Given the description of an element on the screen output the (x, y) to click on. 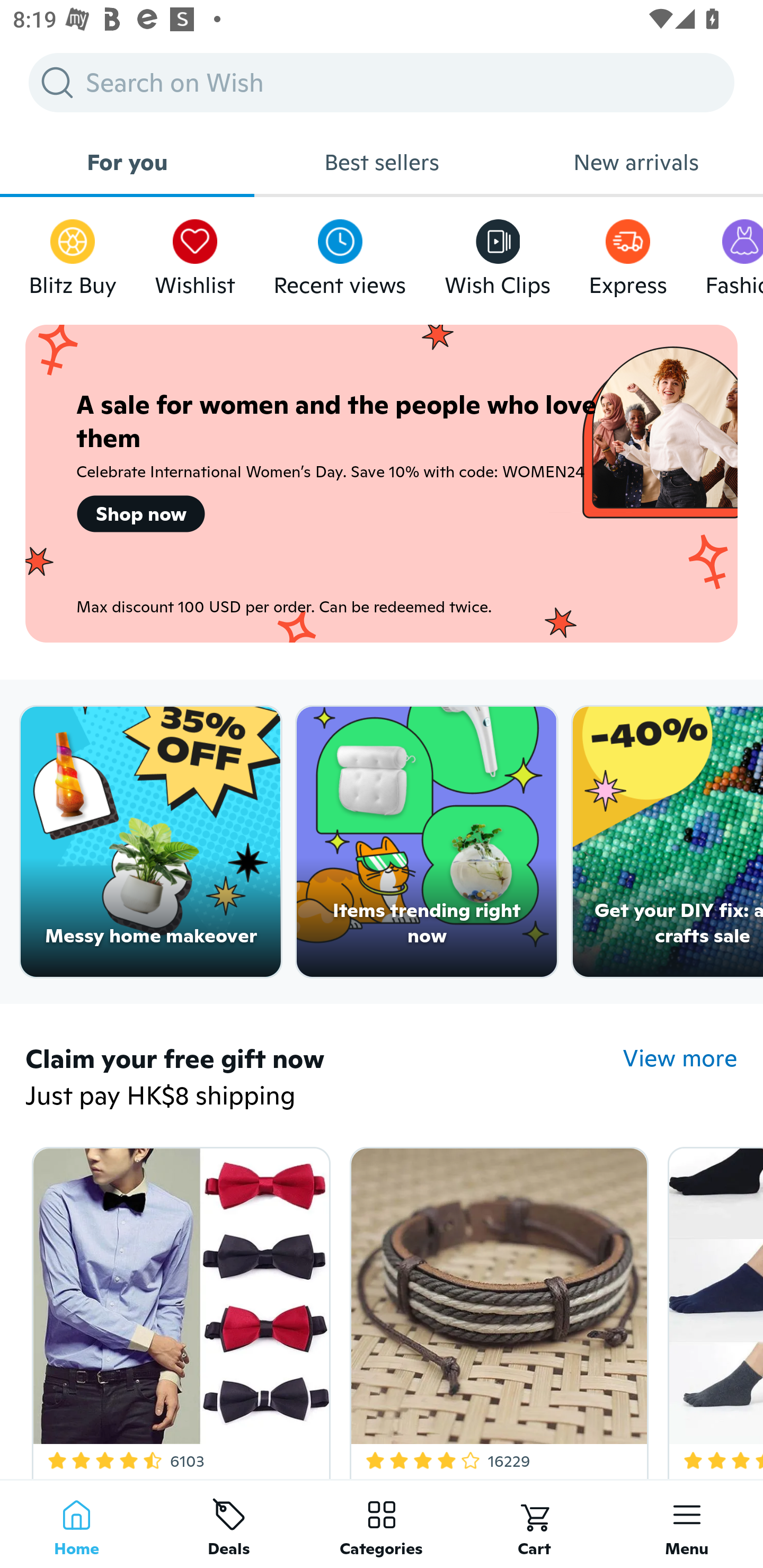
Search on Wish (381, 82)
For you (127, 161)
Best sellers (381, 161)
New arrivals (635, 161)
Blitz Buy (72, 252)
Wishlist (194, 252)
Recent views (339, 252)
Wish Clips (497, 252)
Express (627, 252)
Fashion (734, 252)
Messy home makeover (150, 841)
Items trending right now (426, 841)
Get your DIY fix: arts & crafts sale (668, 841)
Claim your free gift now
Just pay HK$8 shipping (323, 1078)
View more (679, 1058)
4.4 Star Rating 6103 Free (177, 1308)
3.8 Star Rating 16229 Free (495, 1308)
Home (76, 1523)
Deals (228, 1523)
Categories (381, 1523)
Cart (533, 1523)
Menu (686, 1523)
